Given the description of an element on the screen output the (x, y) to click on. 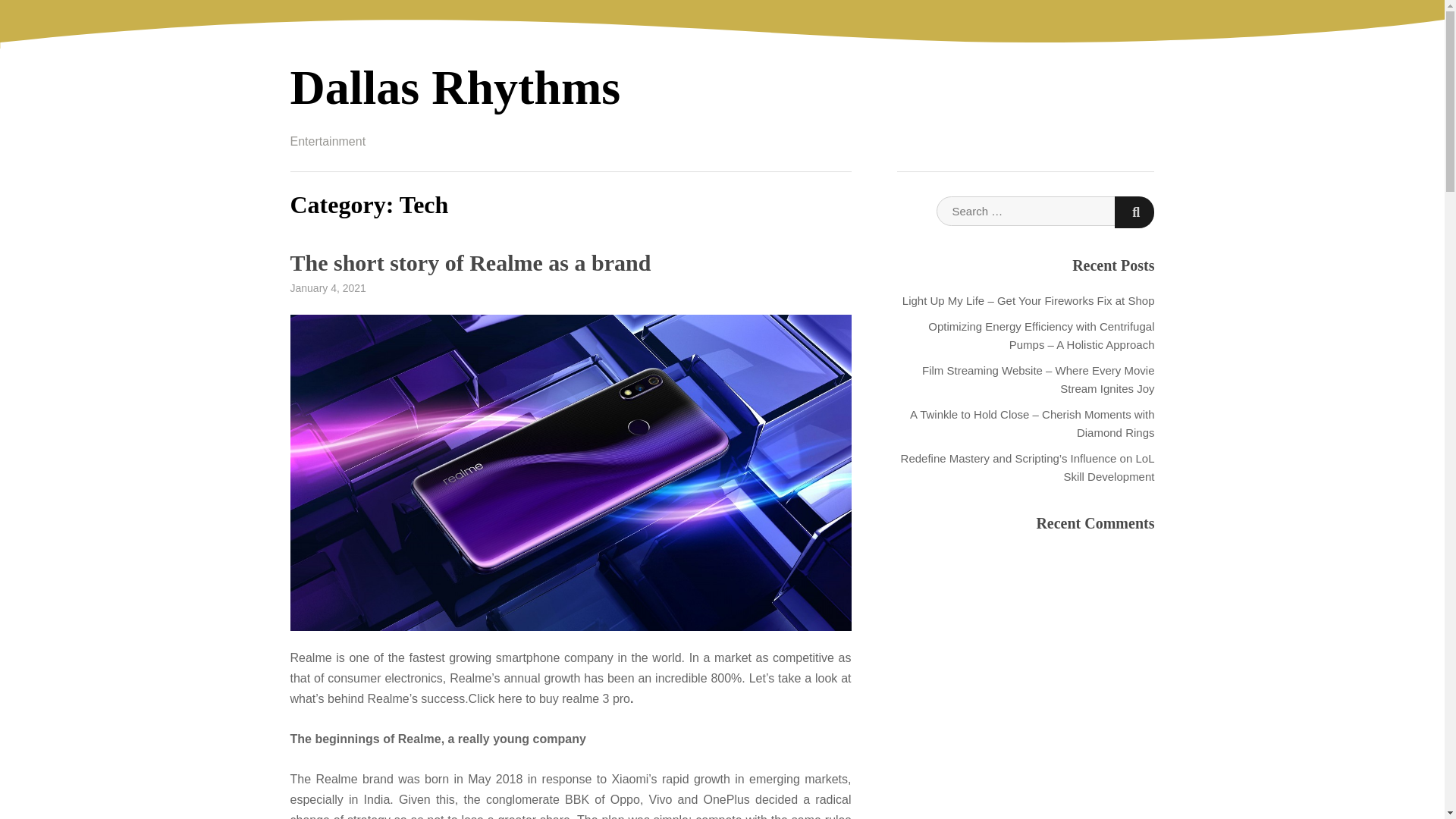
The short story of Realme as a brand (469, 262)
Dallas Rhythms (454, 87)
SEARCH (1134, 212)
Entertainment (328, 141)
January 4, 2021 (327, 287)
